Given the description of an element on the screen output the (x, y) to click on. 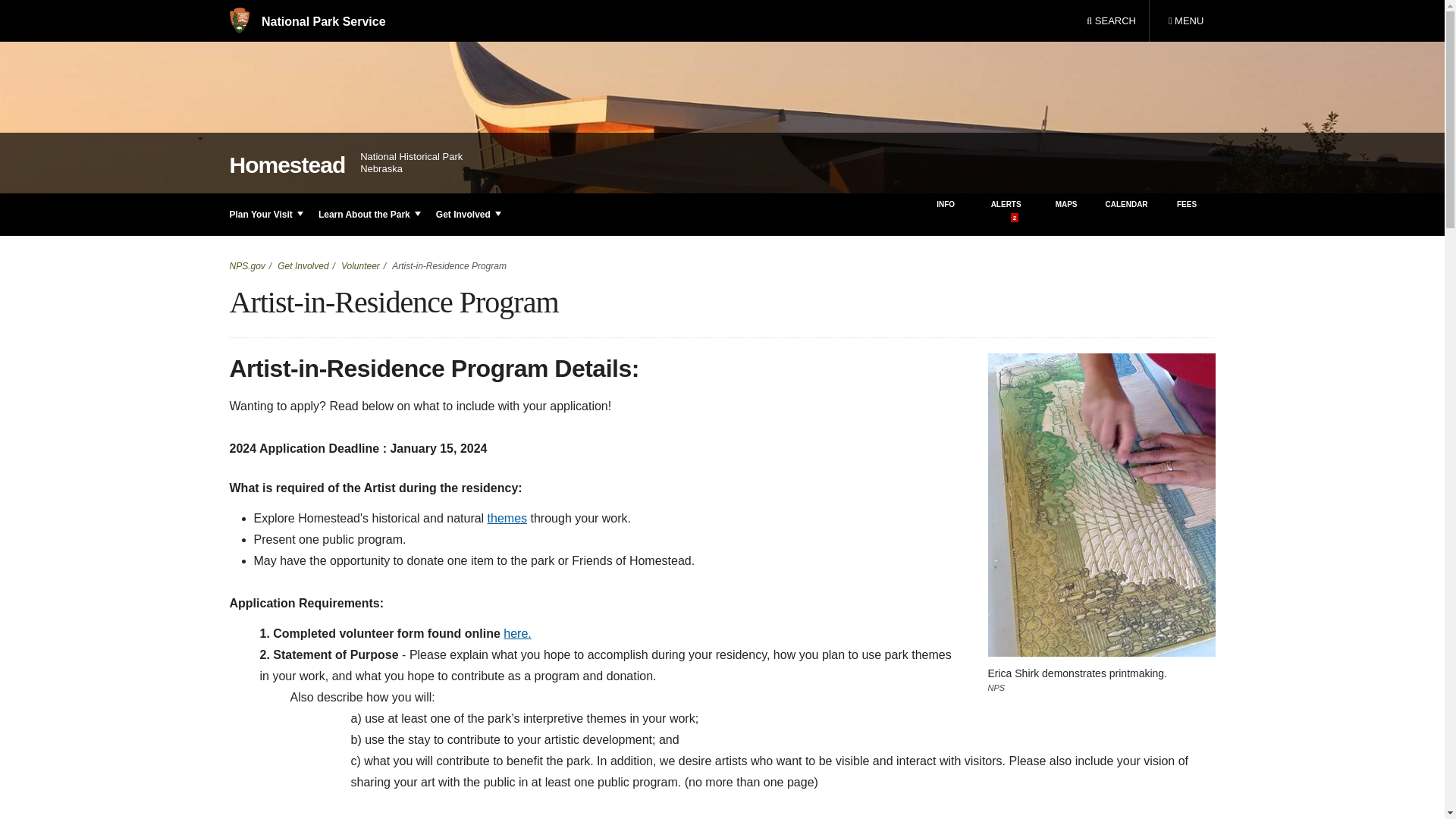
SEARCH (1111, 20)
National Park Service (1185, 20)
